Given the description of an element on the screen output the (x, y) to click on. 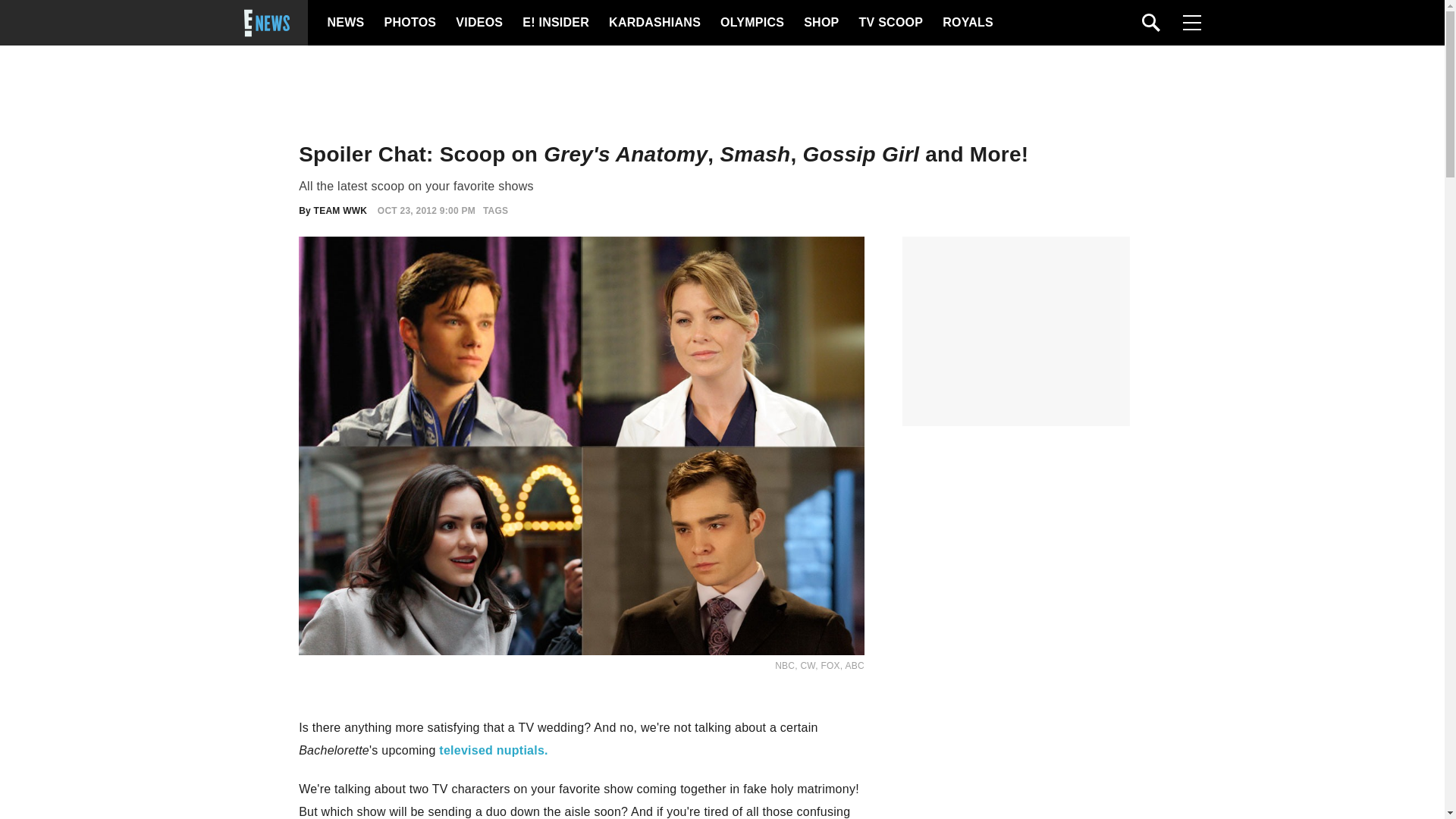
SHOP (820, 22)
E! INSIDER (555, 22)
VIDEOS (478, 22)
televised nuptials. (493, 749)
OLYMPICS (751, 22)
TEAM WWK (341, 210)
NEWS (345, 22)
PHOTOS (408, 22)
KARDASHIANS (653, 22)
TV SCOOP (890, 22)
